Given the description of an element on the screen output the (x, y) to click on. 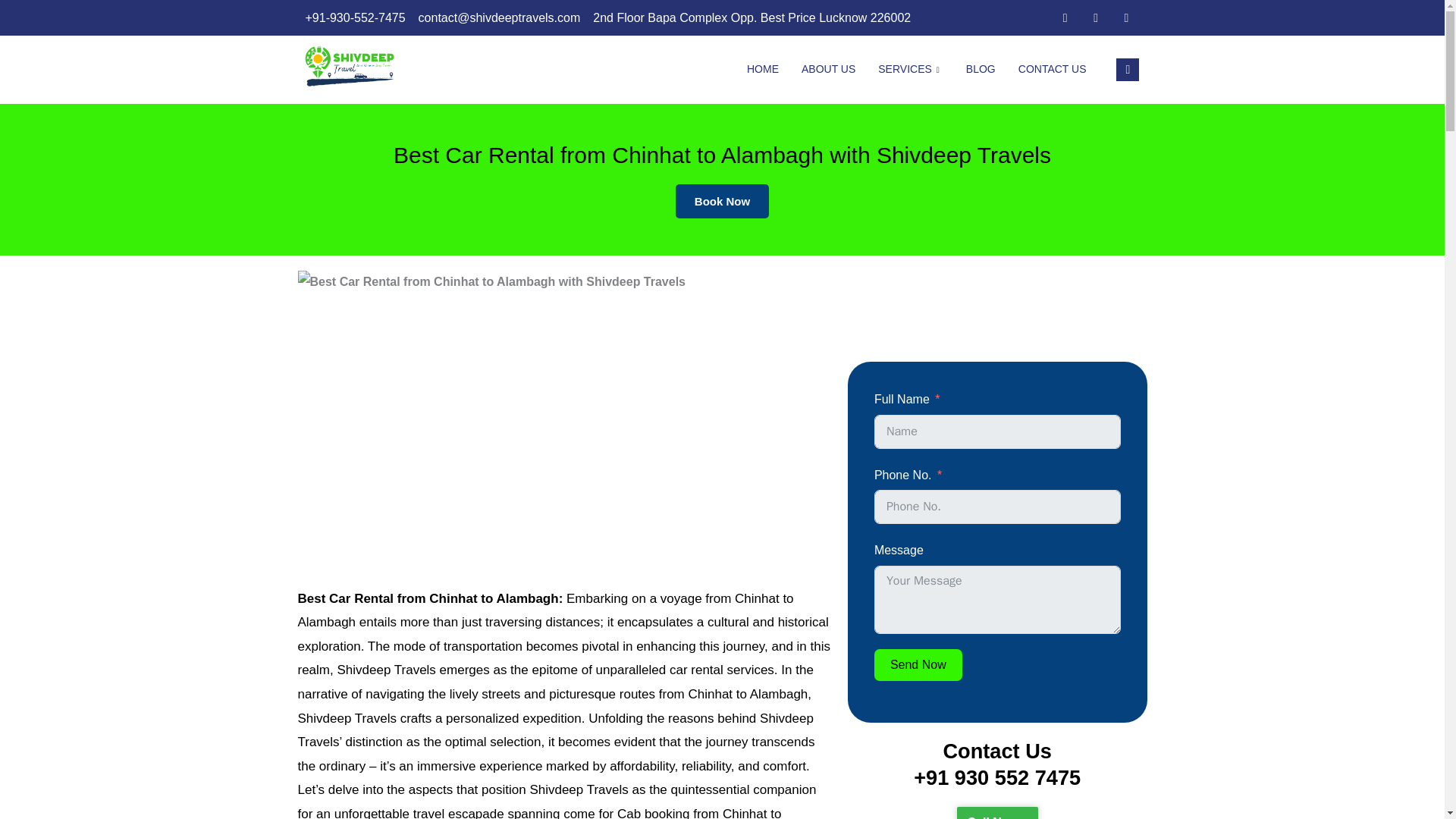
HOME (762, 69)
SERVICES (910, 69)
ABOUT US (828, 69)
Book Now (721, 200)
BLOG (981, 69)
CONTACT US (1052, 69)
